Given the description of an element on the screen output the (x, y) to click on. 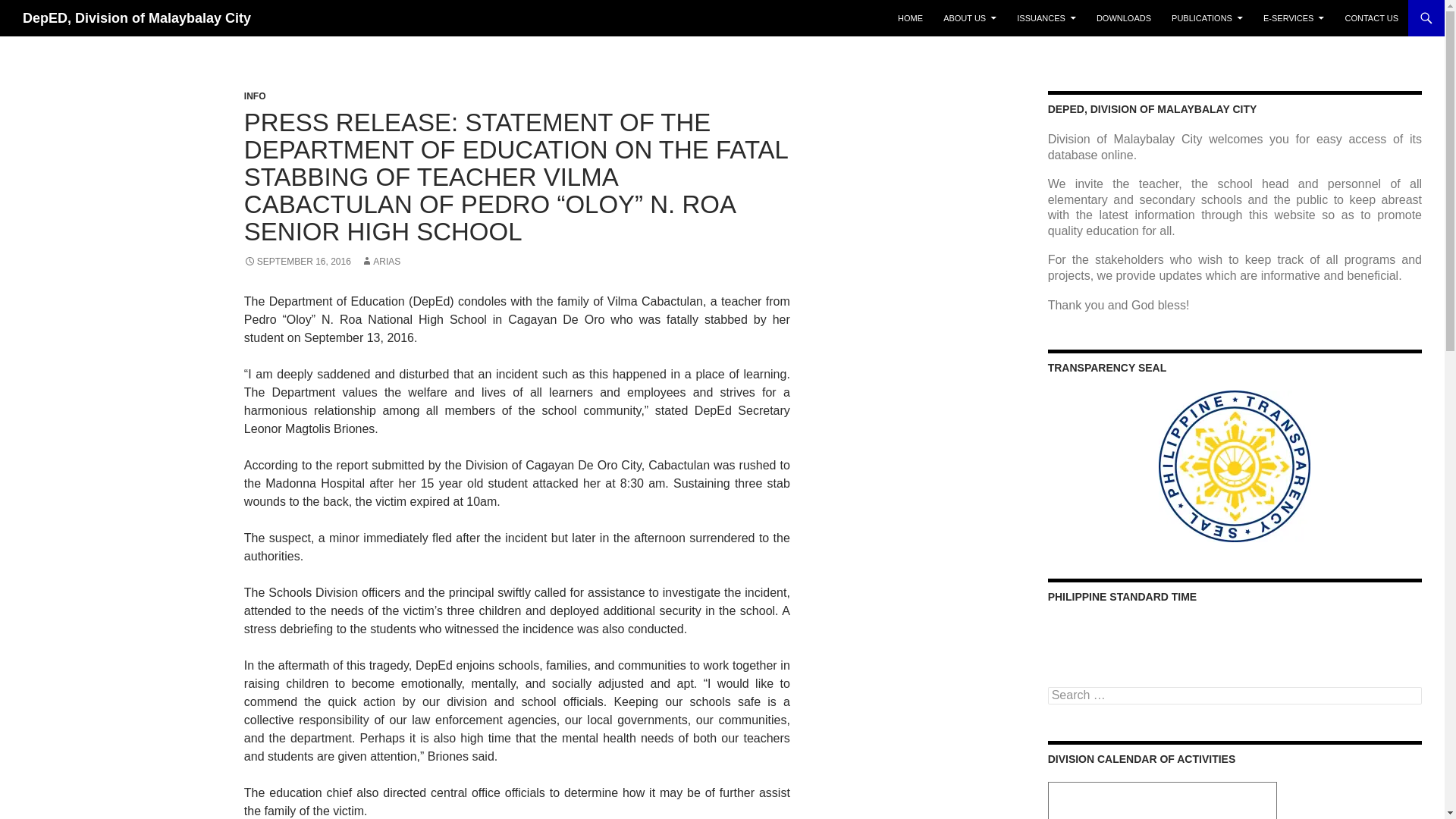
ABOUT US (970, 18)
HOME (909, 18)
DepED, Division of Malaybalay City (136, 18)
ISSUANCES (1045, 18)
